Given the description of an element on the screen output the (x, y) to click on. 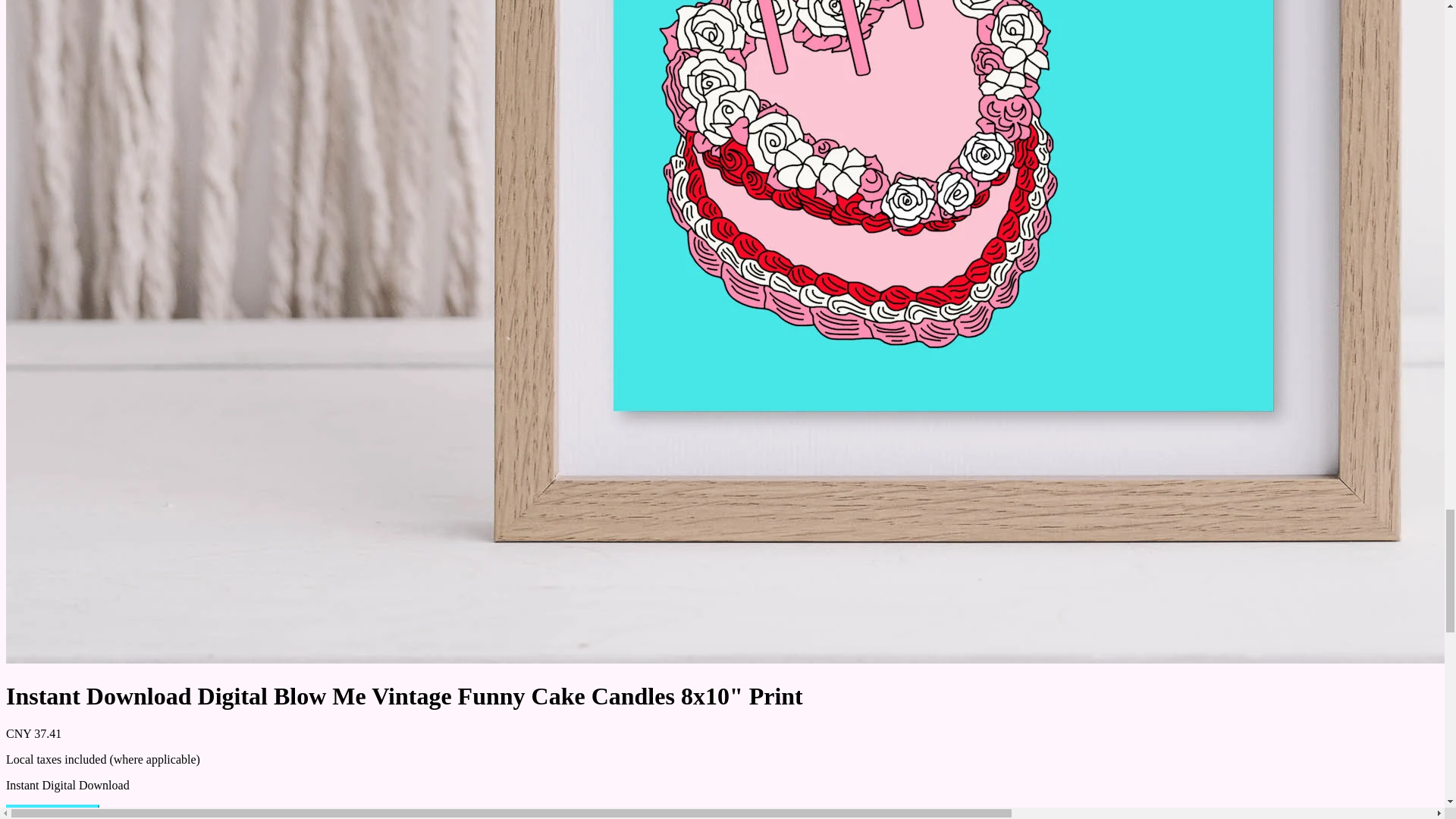
Loading Add to cart (52, 811)
